Given the description of an element on the screen output the (x, y) to click on. 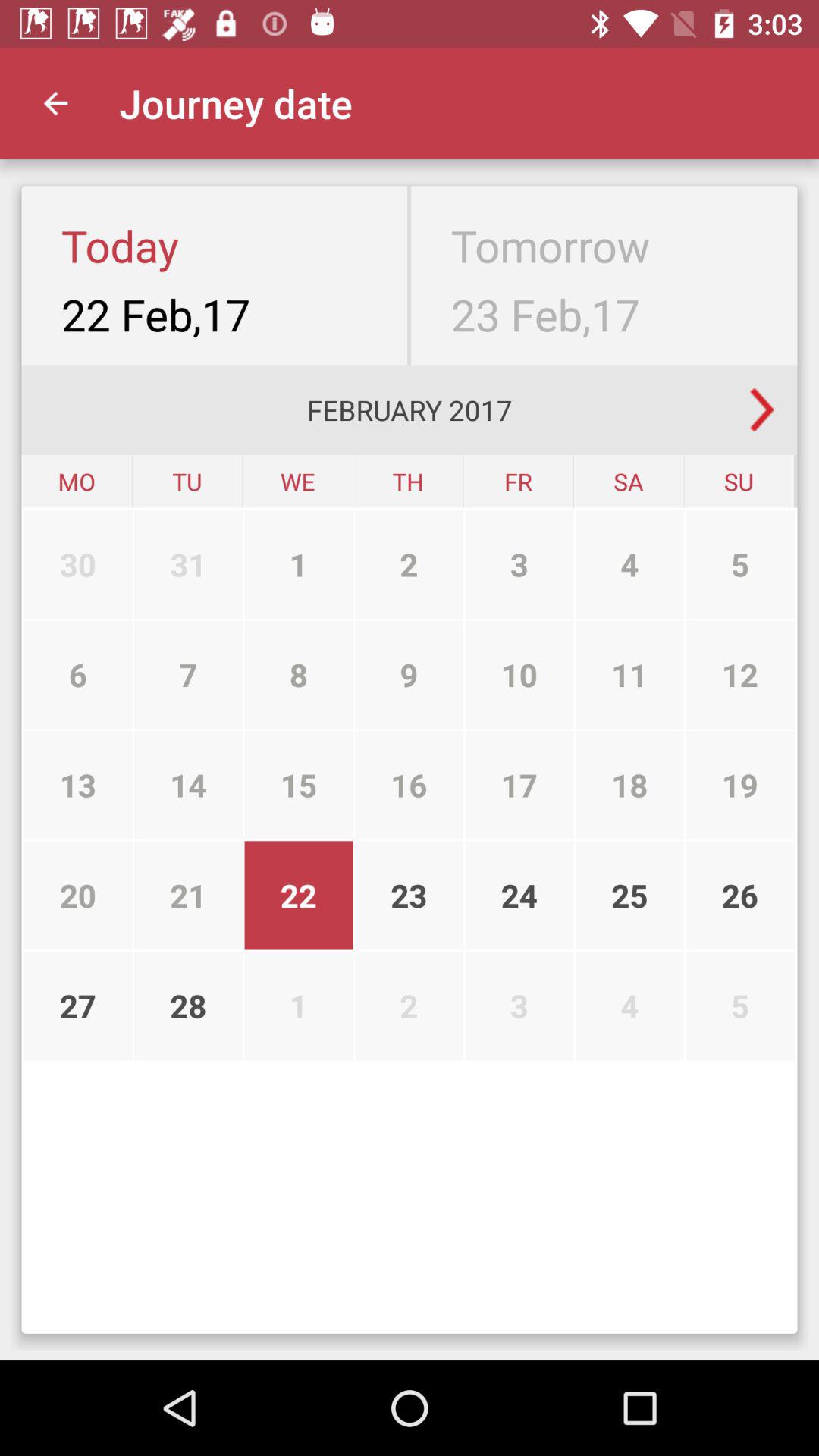
click icon next to 1 item (188, 674)
